Given the description of an element on the screen output the (x, y) to click on. 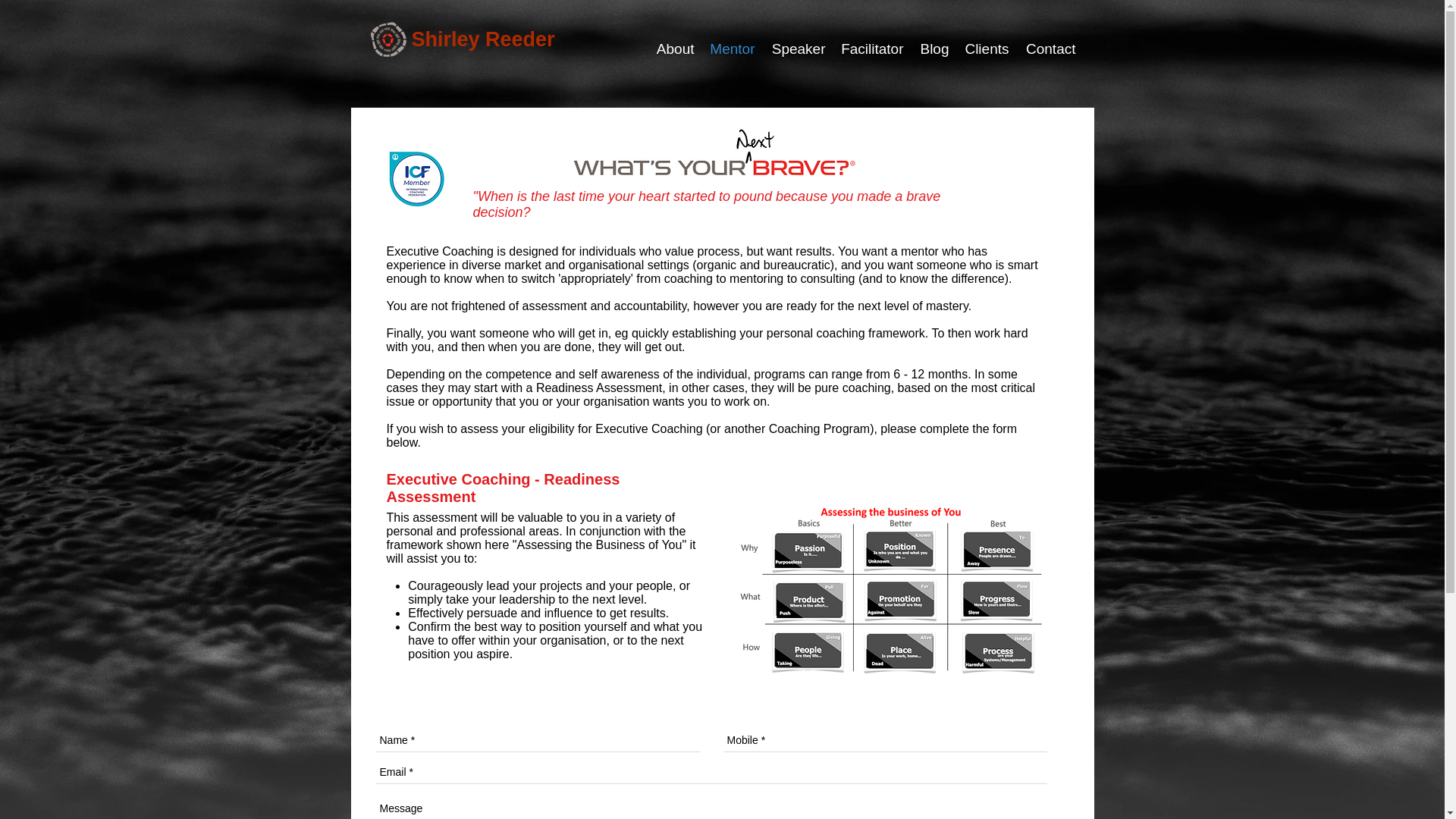
Shirley Reeder (482, 38)
Contact (1049, 48)
Mentor (731, 48)
Facilitator (871, 48)
Blog (933, 48)
Speaker (797, 48)
About (674, 48)
Clients (986, 48)
